Given the description of an element on the screen output the (x, y) to click on. 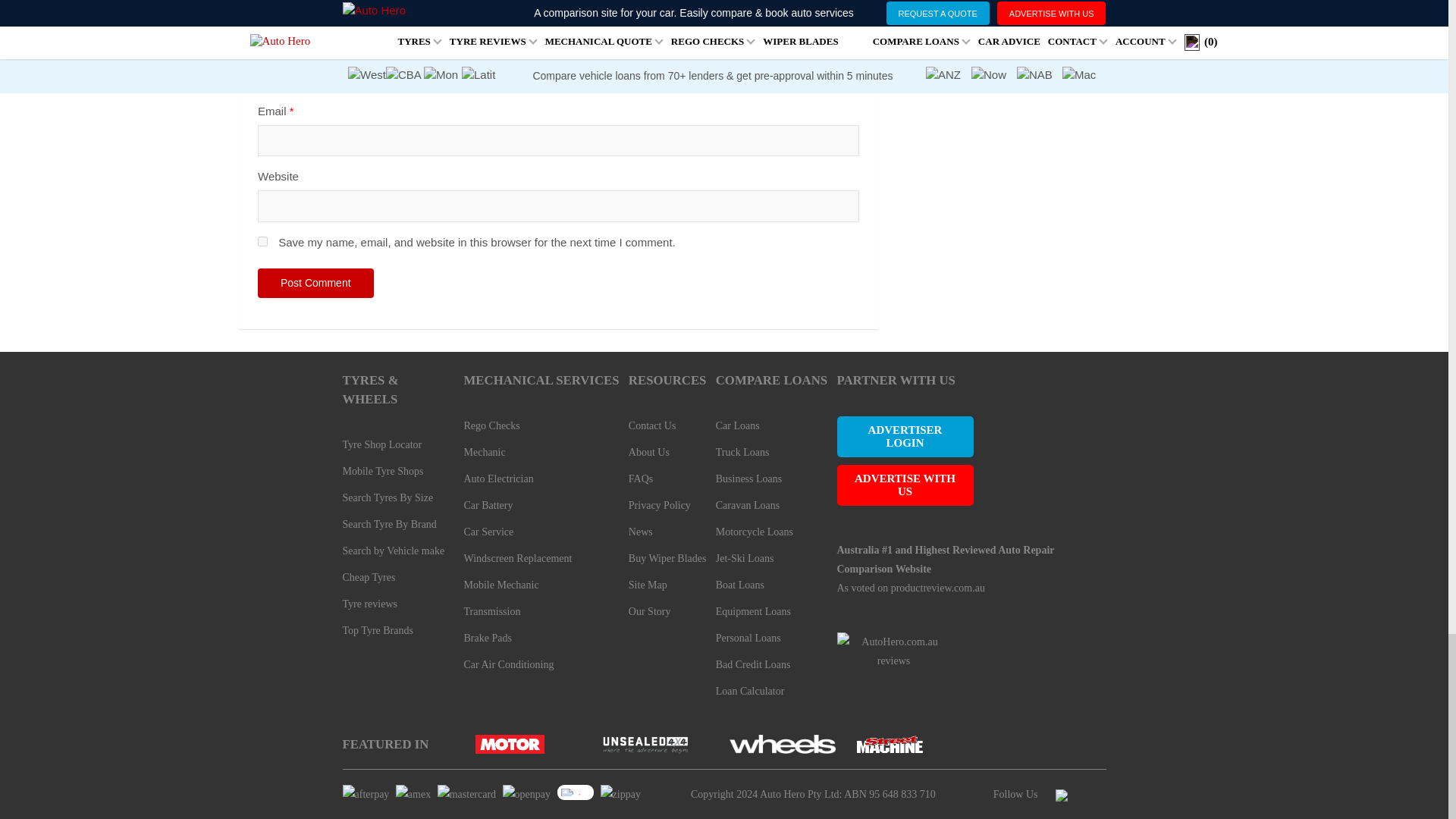
AutoHero (781, 743)
yes (262, 241)
AutoHero (510, 743)
Post Comment (315, 283)
AutoHero (644, 743)
AutoHero (891, 743)
